Given the description of an element on the screen output the (x, y) to click on. 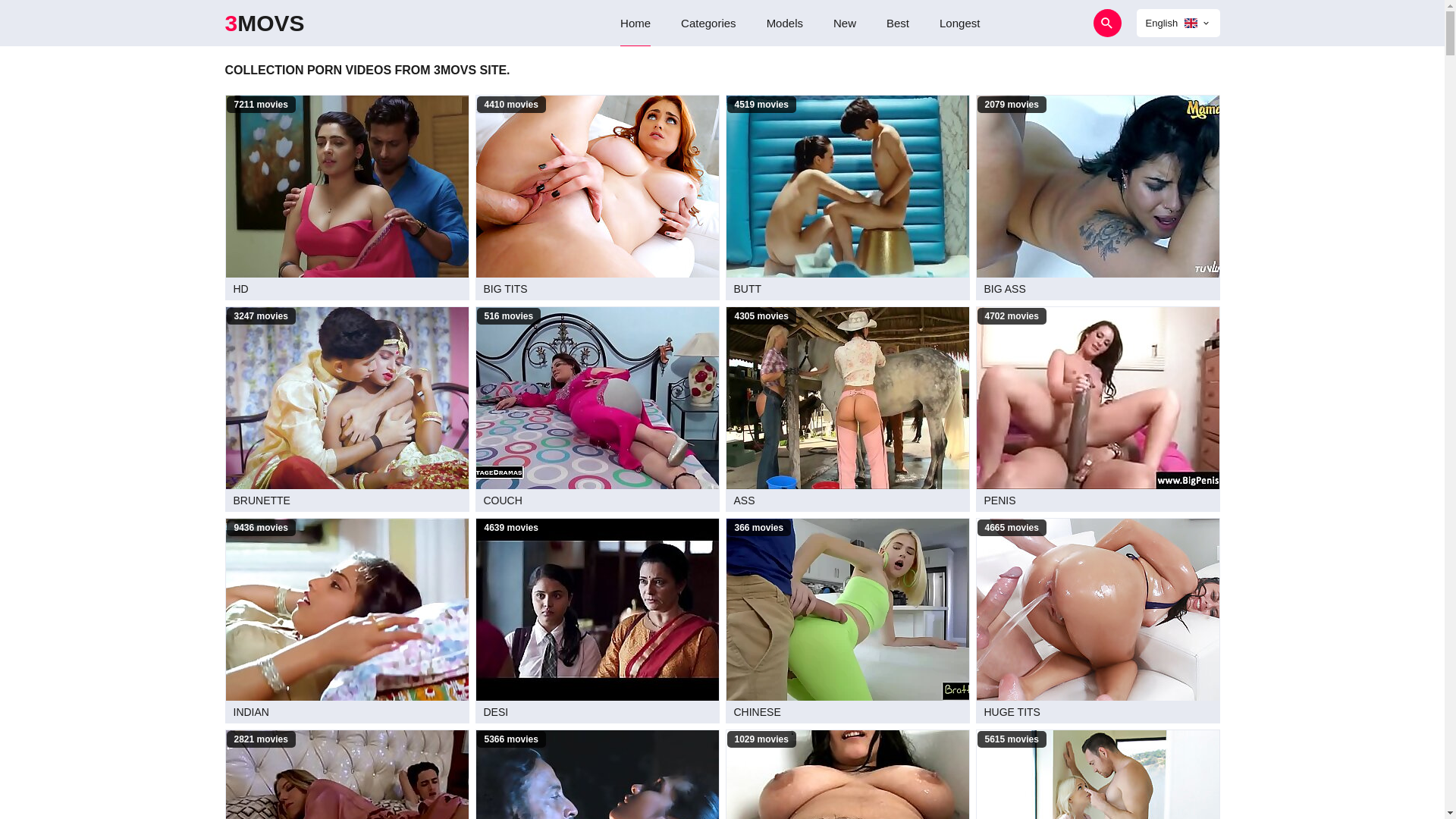
Models Element type: text (784, 22)
Best Element type: text (897, 22)
4639 movies
DESI Element type: text (596, 620)
Search Element type: text (1064, 23)
3MOVS Element type: text (264, 23)
366 movies
CHINESE Element type: text (846, 620)
New Element type: text (844, 22)
4702 movies
PENIS Element type: text (1097, 408)
7211 movies
HD Element type: text (346, 197)
4305 movies
ASS Element type: text (846, 408)
Categories Element type: text (708, 22)
English Element type: text (1178, 23)
3247 movies
BRUNETTE Element type: text (346, 408)
Longest Element type: text (959, 22)
2079 movies
BIG ASS Element type: text (1097, 197)
4410 movies
BIG TITS Element type: text (596, 197)
4519 movies
BUTT Element type: text (846, 197)
Home Element type: text (635, 22)
4665 movies
HUGE TITS Element type: text (1097, 620)
9436 movies
INDIAN Element type: text (346, 620)
516 movies
COUCH Element type: text (596, 408)
